Given the description of an element on the screen output the (x, y) to click on. 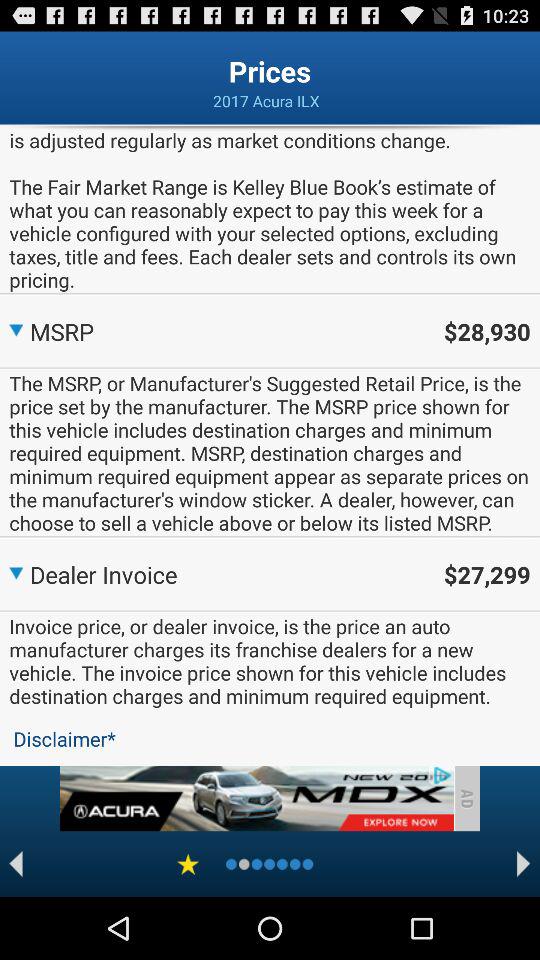
go back (16, 864)
